Given the description of an element on the screen output the (x, y) to click on. 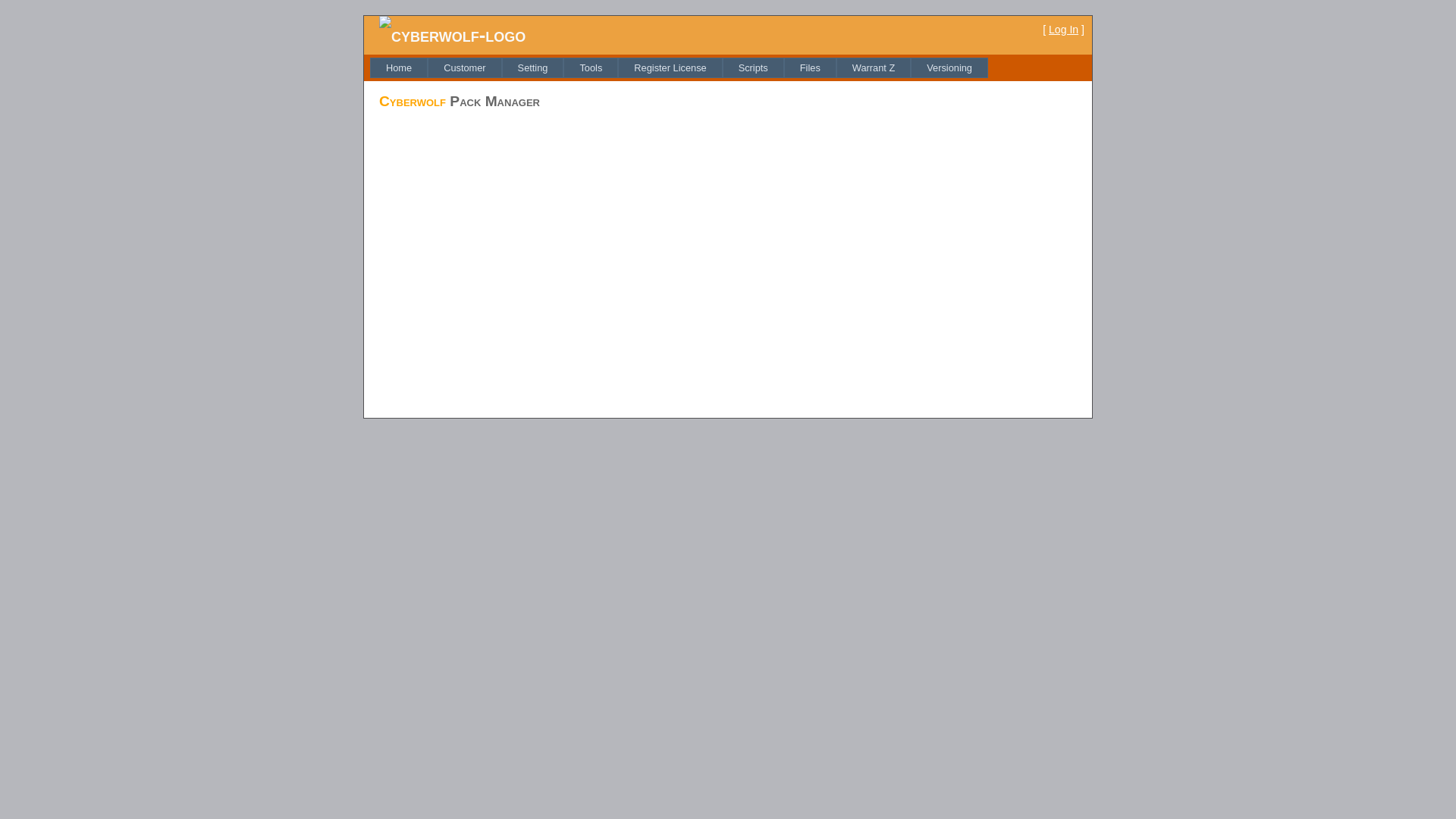
Tools Element type: text (590, 67)
Home Element type: text (398, 67)
Log In Element type: text (1063, 29)
Versioning Element type: text (949, 67)
Files Element type: text (810, 67)
Register License Element type: text (669, 67)
Customer Element type: text (464, 67)
Warrant Z Element type: text (873, 67)
Scripts Element type: text (753, 67)
Setting Element type: text (533, 67)
